Given the description of an element on the screen output the (x, y) to click on. 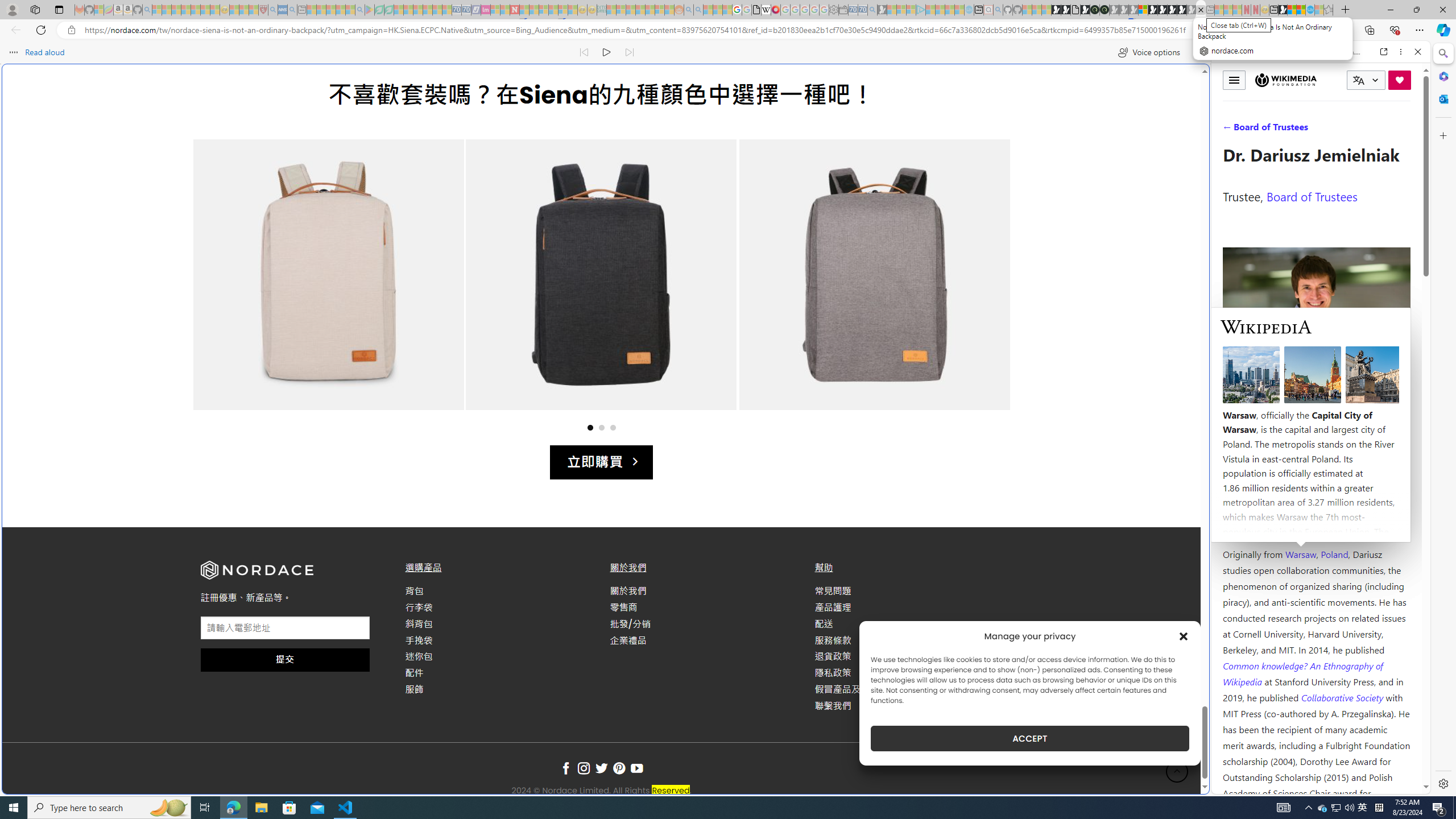
Earth has six continents not seven, radical new study claims (1300, 9)
Wikimedia Foundation (1285, 79)
